Given the description of an element on the screen output the (x, y) to click on. 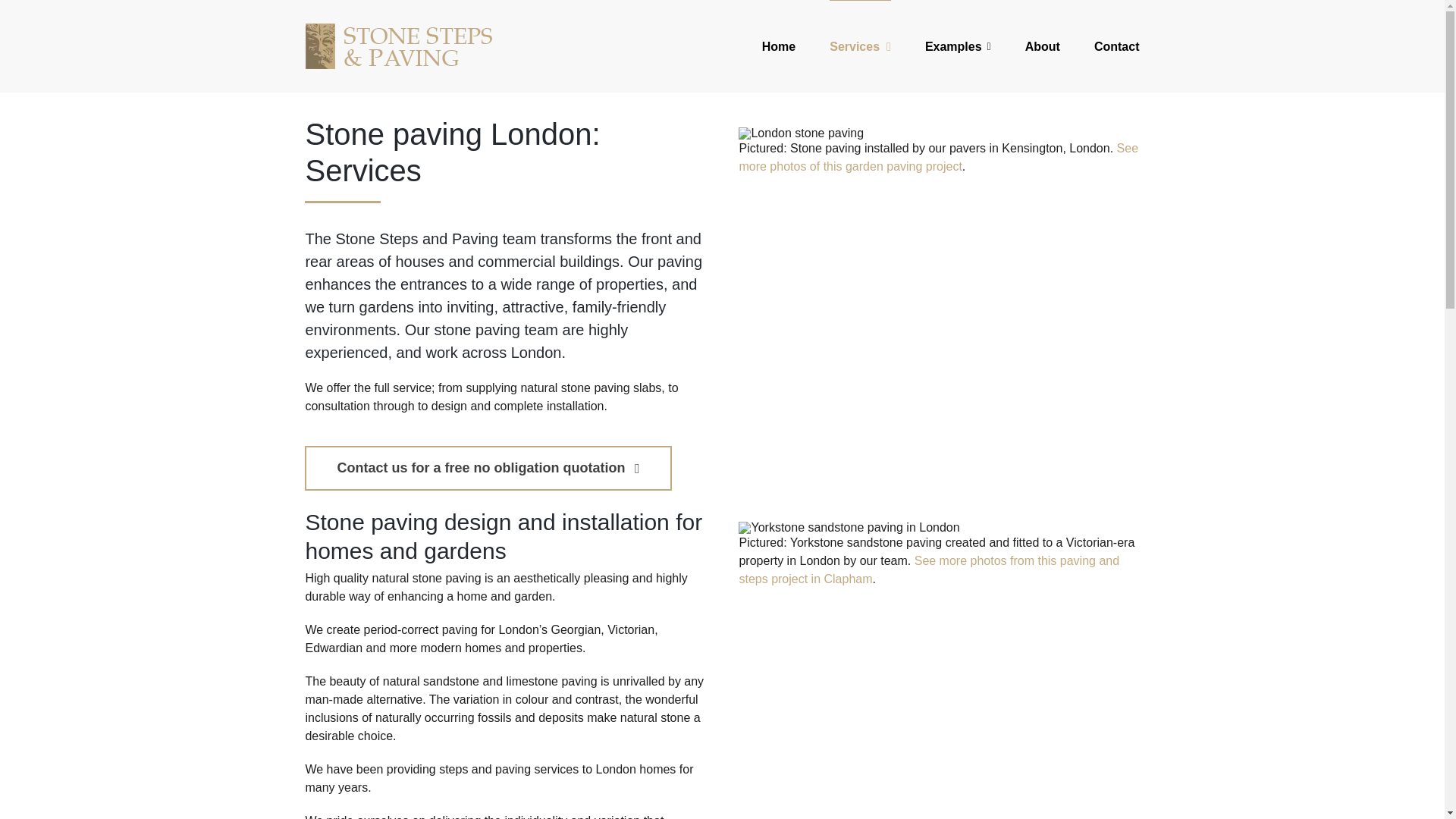
See more photos of this garden paving project (938, 156)
Contact us for a free no obligation quotation (487, 467)
